Given the description of an element on the screen output the (x, y) to click on. 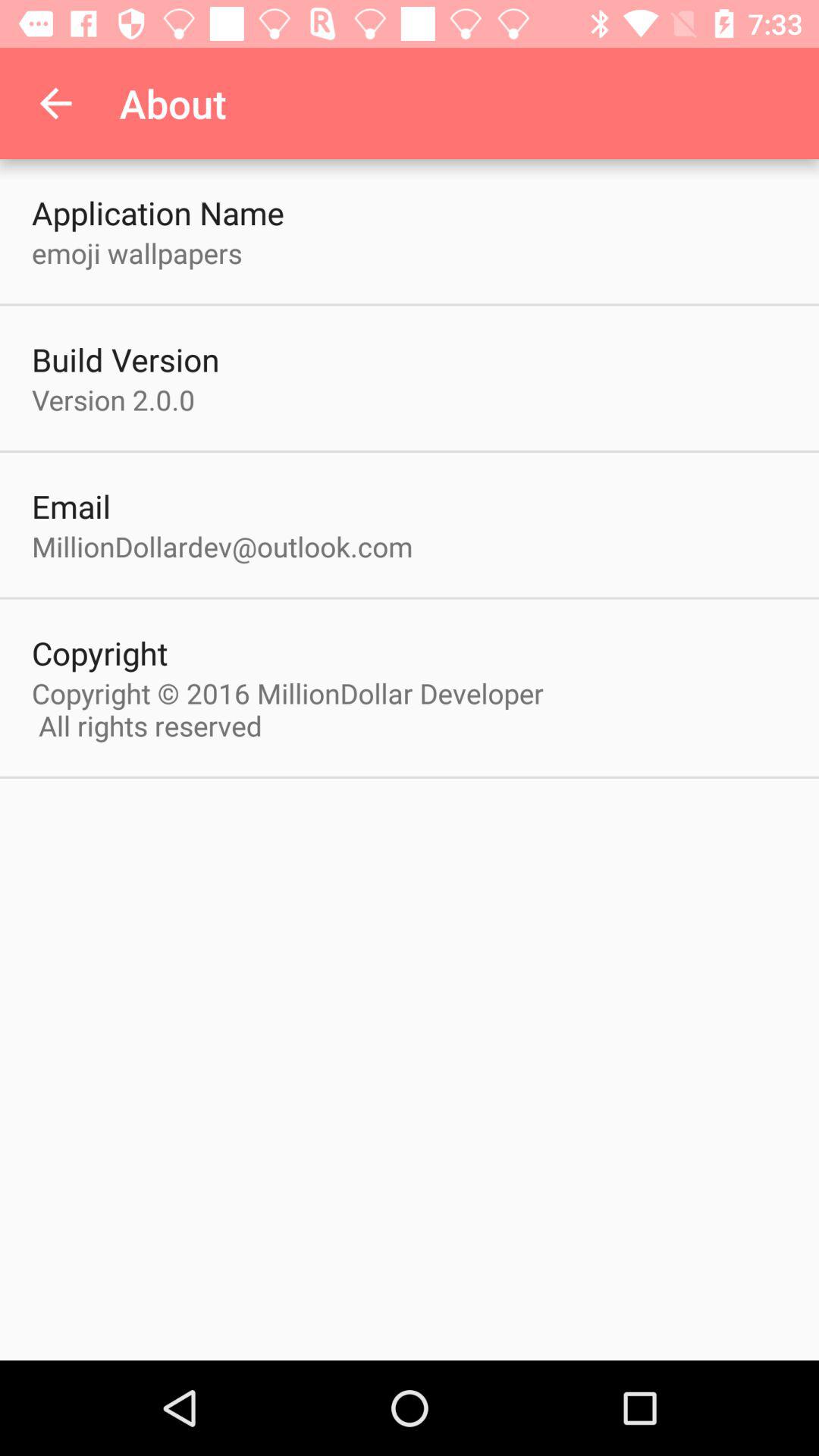
tap the email item (70, 505)
